Given the description of an element on the screen output the (x, y) to click on. 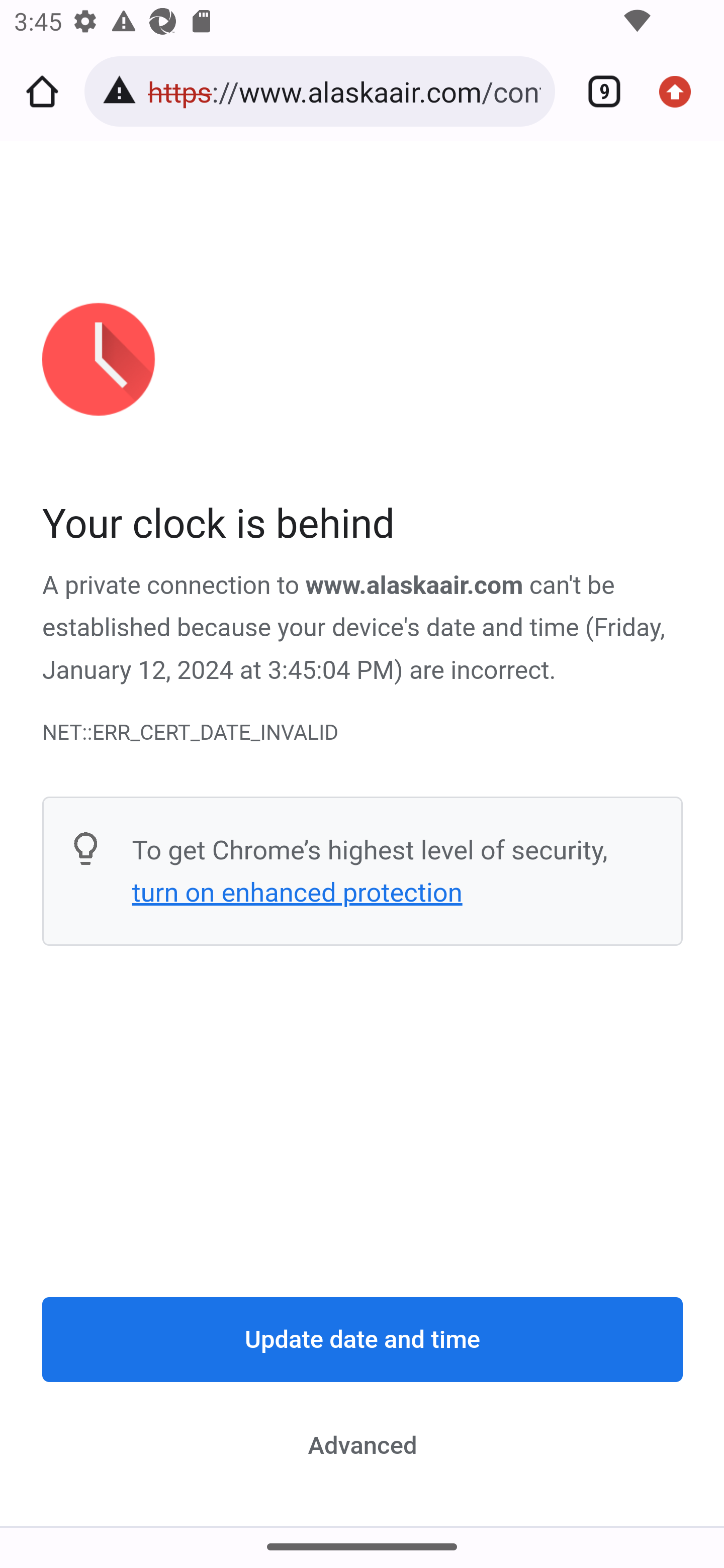
Home (42, 91)
This page is dangerous (122, 91)
Switch or close tabs (597, 91)
Update available. More options (681, 91)
NET::ERR_CERT_DATE_INVALID (362, 732)
turn on enhanced protection (296, 892)
Update date and time (362, 1339)
Advanced (362, 1445)
